Given the description of an element on the screen output the (x, y) to click on. 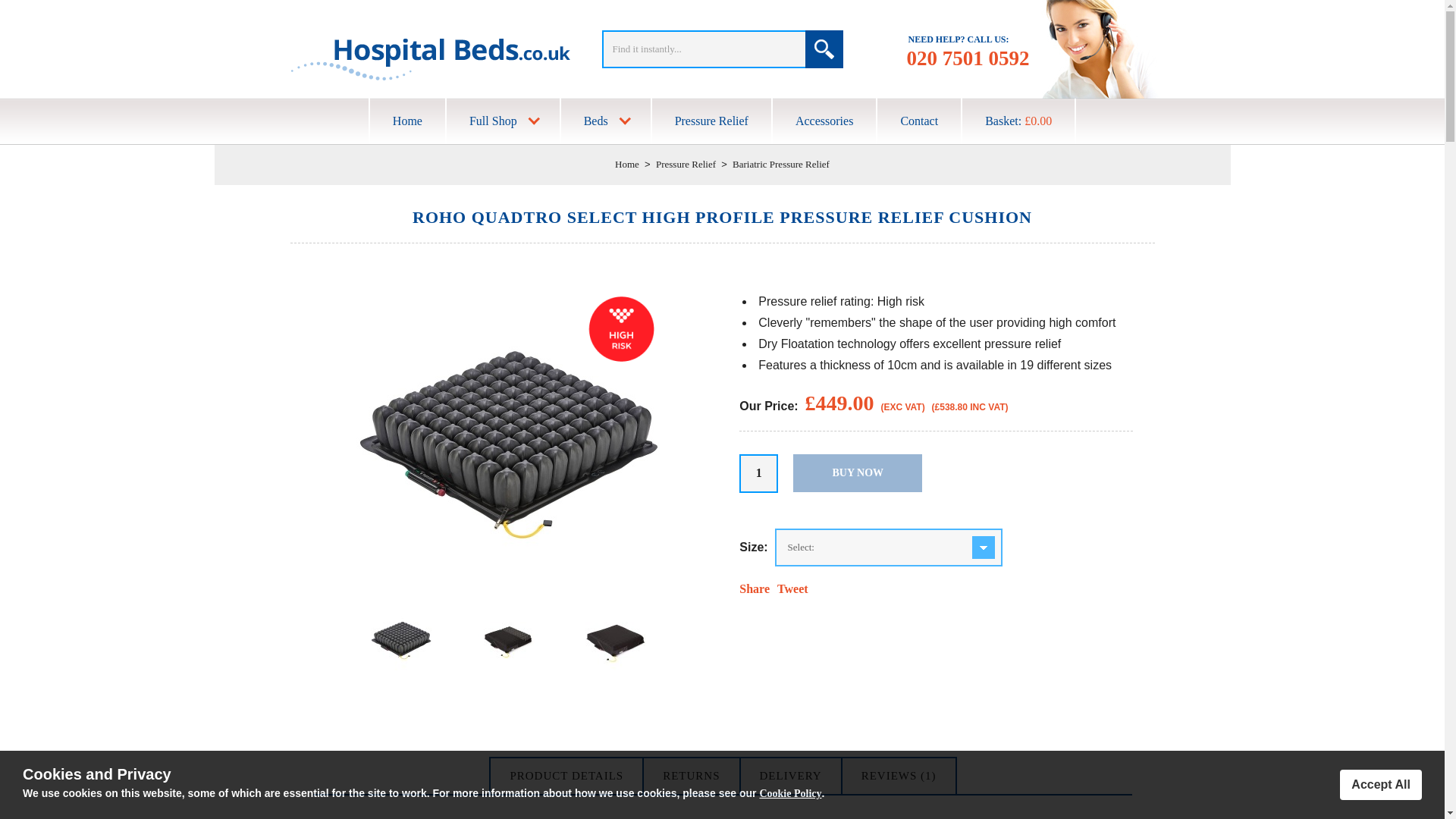
Home (626, 163)
Share (754, 588)
Go (824, 48)
RETURNS (690, 775)
Bariatric Pressure Relief (780, 163)
Tweet (792, 588)
BUY NOW (857, 473)
DELIVERY (791, 775)
Zoom (507, 442)
1 (758, 473)
Pressure Relief (686, 163)
PRODUCT DETAILS (566, 775)
Roho Quadtro Select High Profile Pressure Relief Cushion (507, 590)
Browse Our Full Range of Hospital Beds (605, 120)
